Given the description of an element on the screen output the (x, y) to click on. 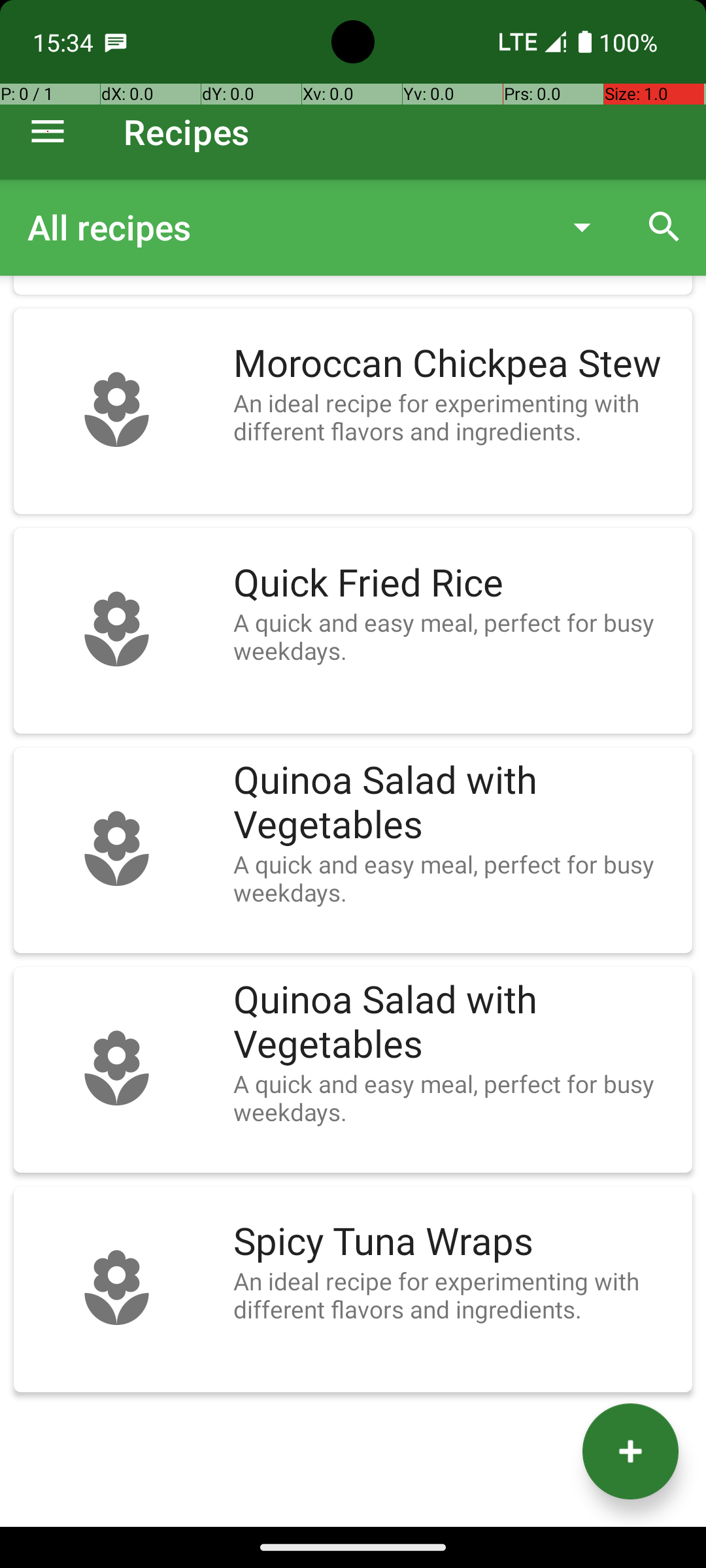
Spicy Tuna Wraps Element type: android.widget.TextView (455, 1241)
